Given the description of an element on the screen output the (x, y) to click on. 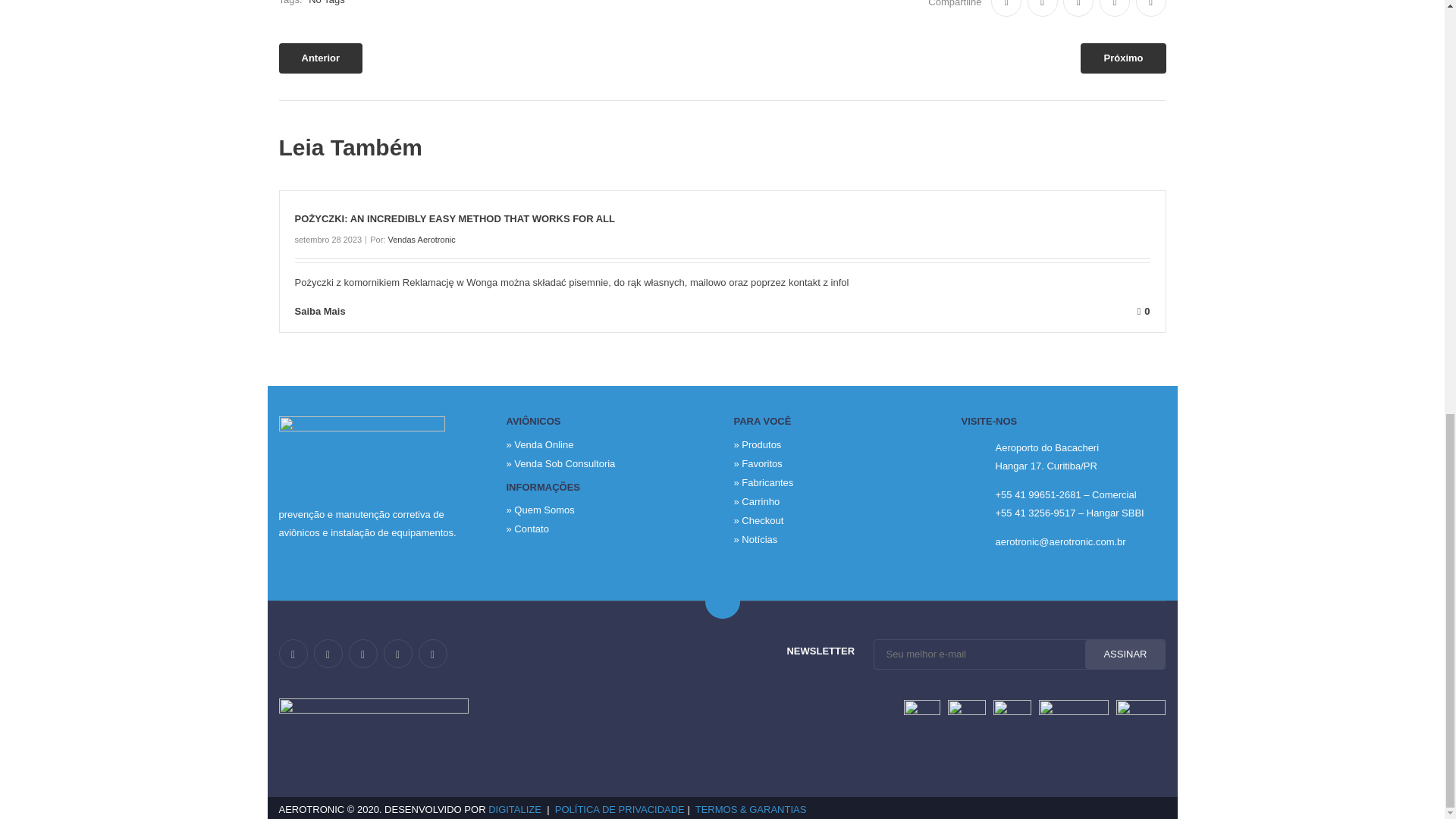
Vendas Aerotronic (420, 239)
Anterior (320, 58)
Saiba Mais (331, 310)
0 (759, 310)
ASSINAR (1124, 654)
